Given the description of an element on the screen output the (x, y) to click on. 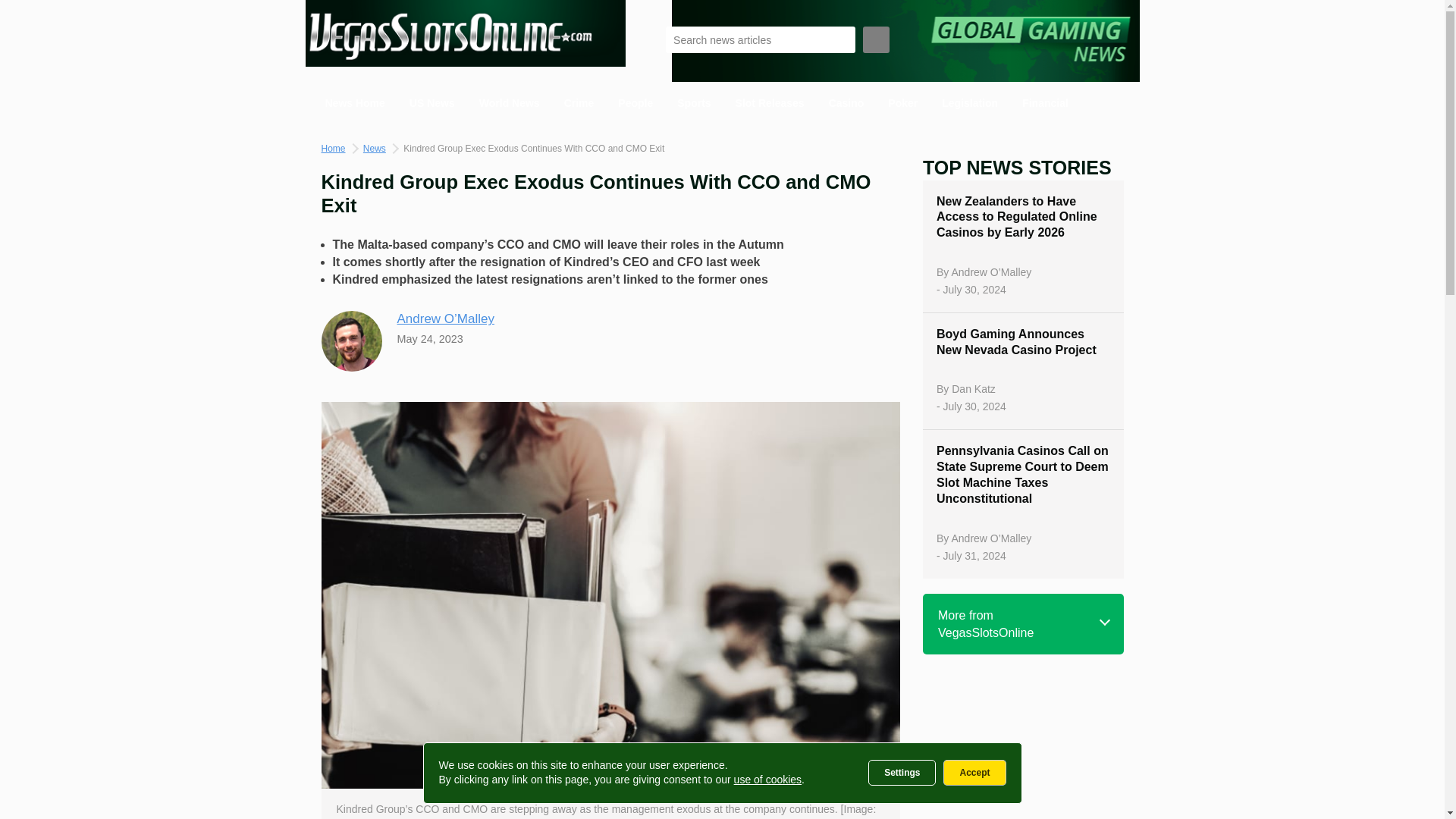
Dan Katz (973, 388)
Boyd Gaming Announces New Nevada Casino Project (1022, 342)
Home (333, 148)
Financial (1045, 103)
News (373, 148)
Slot Releases (769, 103)
Sports (693, 103)
World News (509, 103)
Poker (903, 103)
People (635, 103)
Casino (846, 103)
Crime (579, 103)
US News (432, 103)
